Given the description of an element on the screen output the (x, y) to click on. 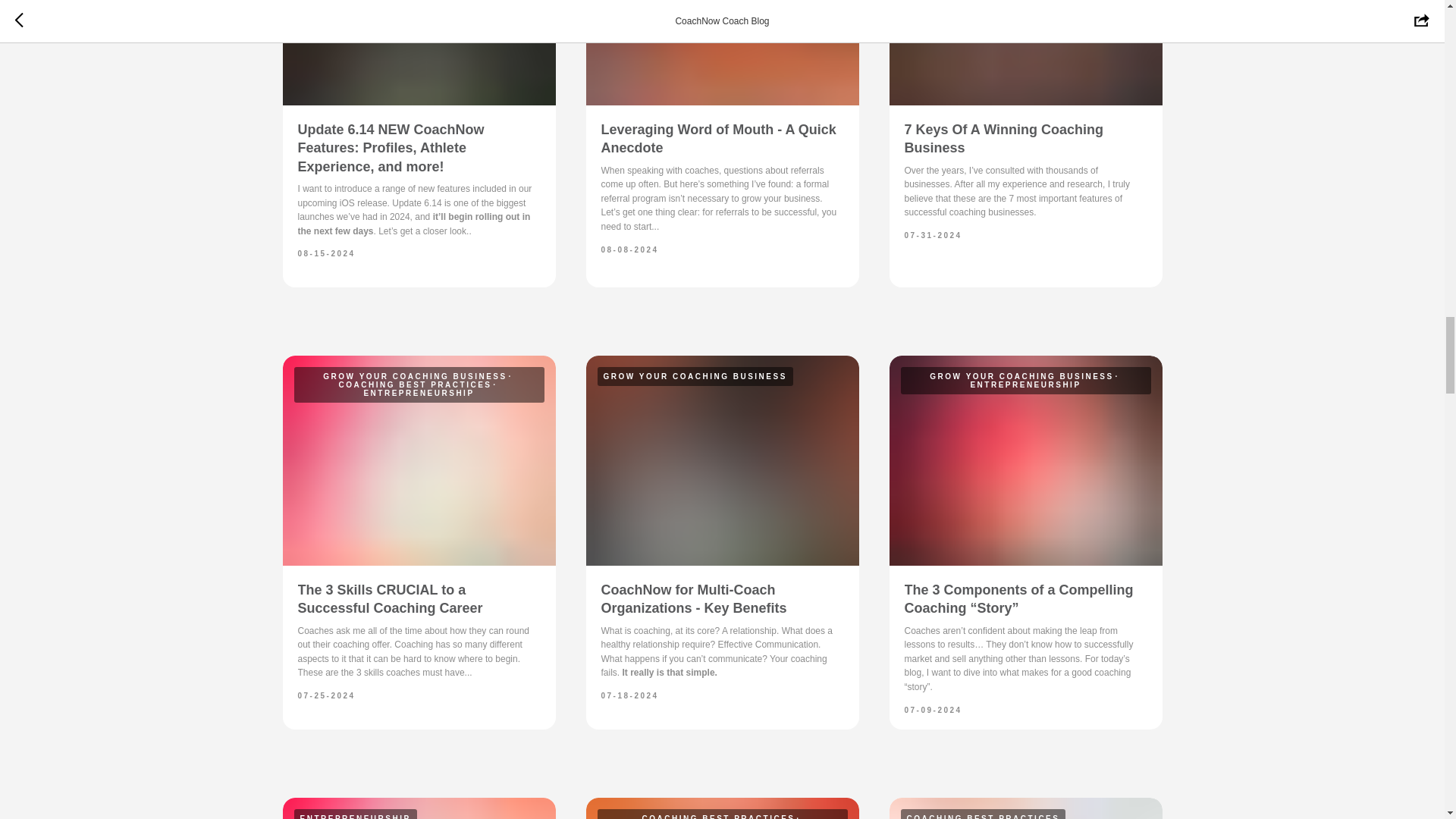
The 3 Skills CRUCIAL to a Successful Coaching Career (389, 598)
7 Keys Of A Winning Coaching Business (1003, 138)
CoachNow for Multi-Coach Organizations - Key Benefits (692, 598)
Leveraging Word of Mouth - A Quick Anecdote (717, 138)
